Given the description of an element on the screen output the (x, y) to click on. 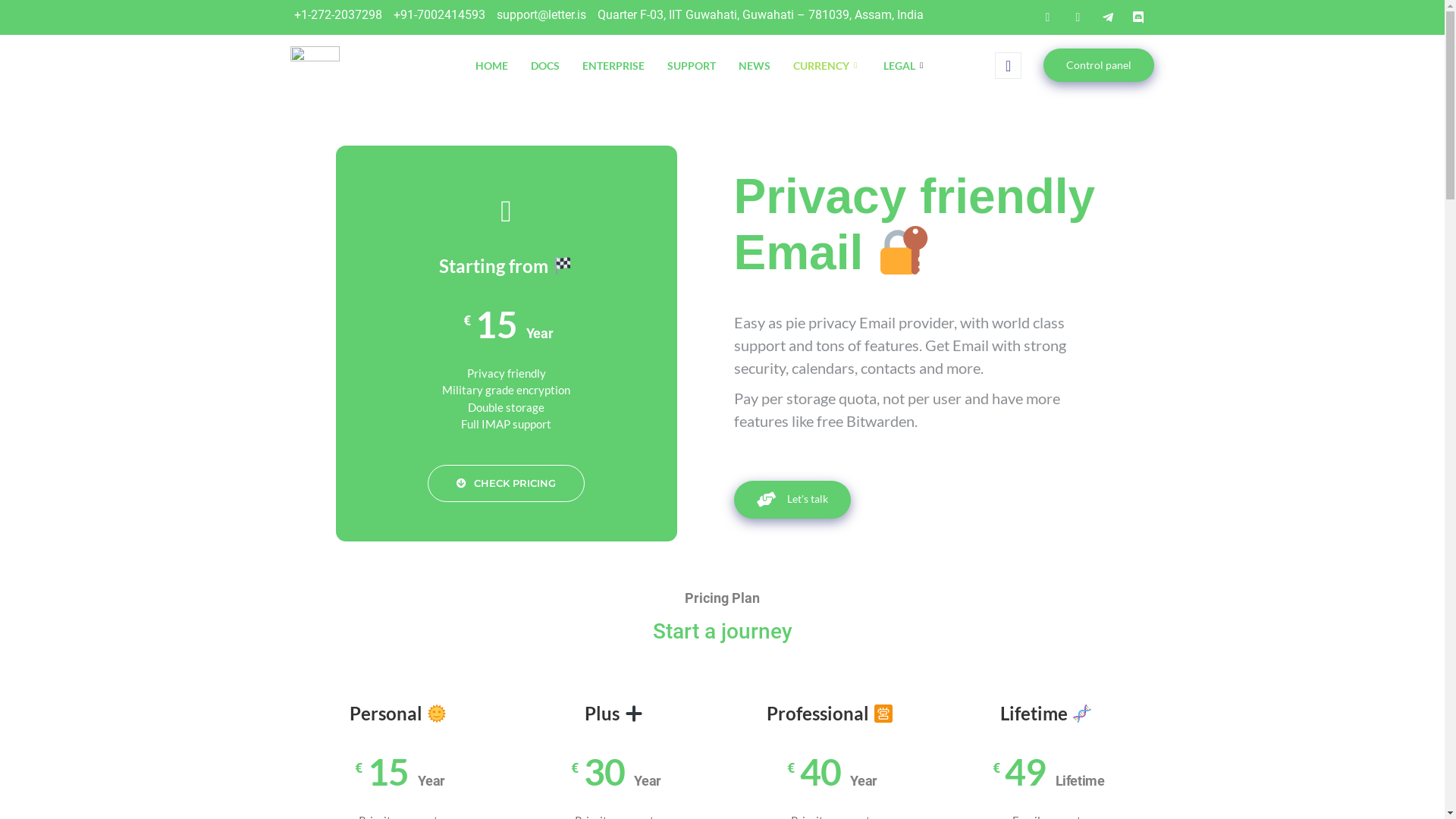
Let's talk Element type: text (792, 499)
Control panel Element type: text (1098, 64)
+91-7002414593 Element type: text (437, 15)
LEGAL Element type: text (905, 64)
CHECK PRICING Element type: text (505, 483)
CURRENCY Element type: text (826, 64)
NEWS Element type: text (754, 64)
+1-272-2037298 Element type: text (335, 15)
HOME Element type: text (491, 64)
ENTERPRISE Element type: text (613, 64)
DOCS Element type: text (545, 64)
SUPPORT Element type: text (691, 64)
